Given the description of an element on the screen output the (x, y) to click on. 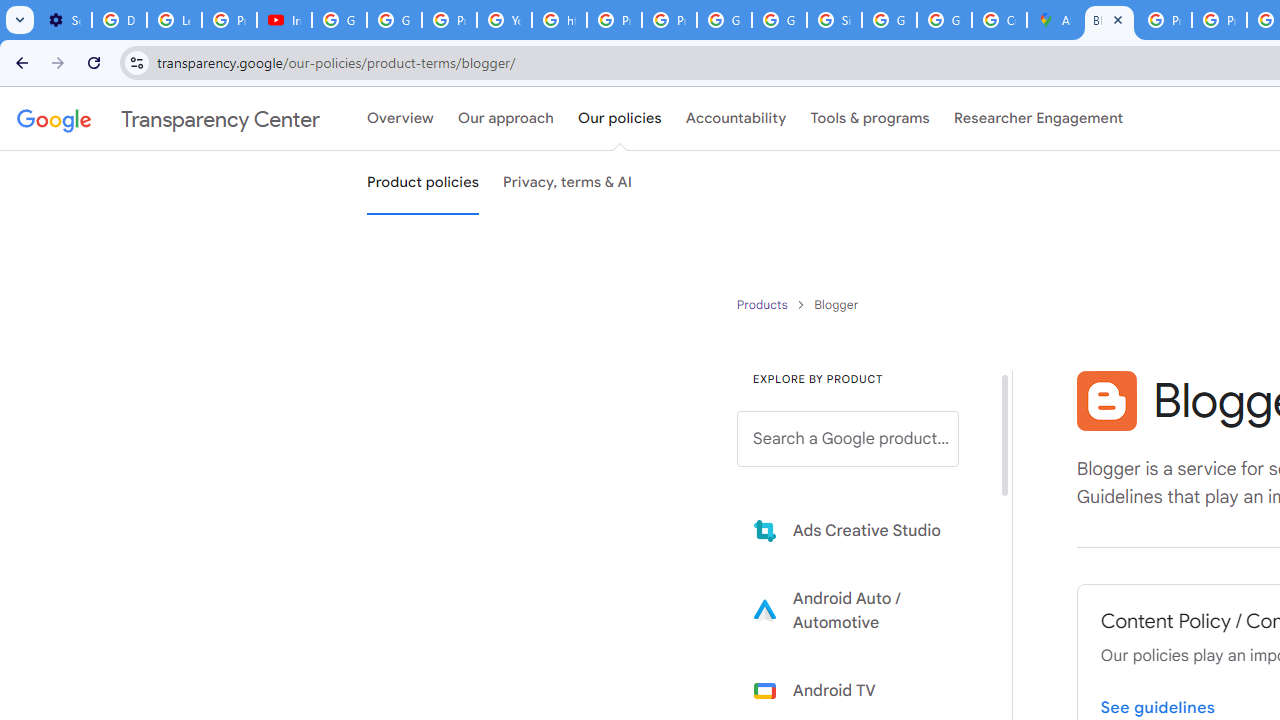
Researcher Engagement (1038, 119)
Learn more about Android Auto (862, 610)
Learn more about Ads Creative Studio (862, 530)
Search a Google product from below list. (847, 439)
Blogger Policies and Guidelines - Transparency Center (1108, 20)
Product policies (763, 304)
Privacy Help Center - Policies Help (1218, 20)
Privacy Help Center - Policies Help (614, 20)
Privacy Help Center - Policies Help (1163, 20)
